Given the description of an element on the screen output the (x, y) to click on. 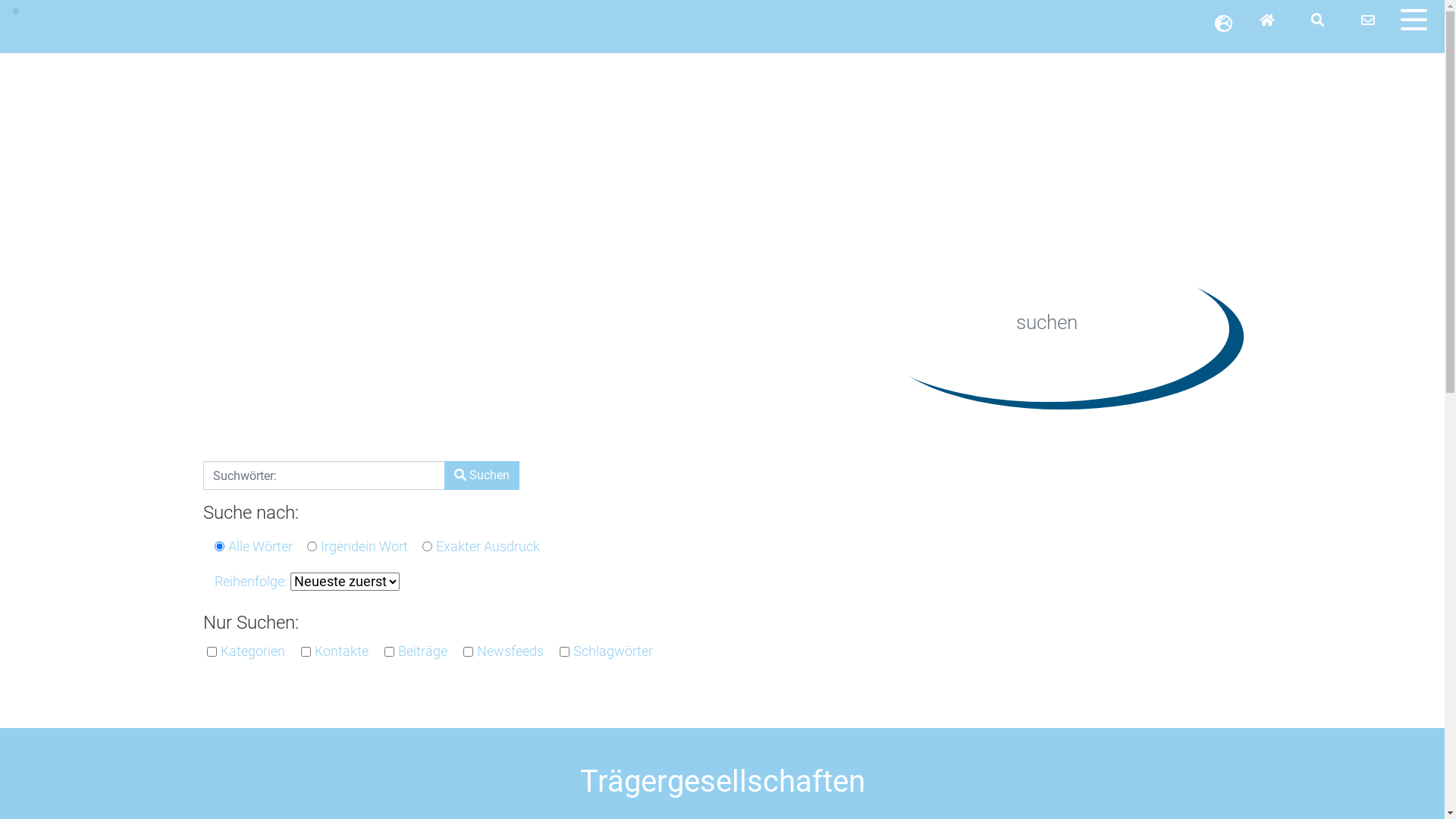
Home Element type: text (1266, 20)
Mail Element type: text (1367, 20)
suchen Element type: text (1317, 20)
Suchen Element type: text (481, 475)
